Given the description of an element on the screen output the (x, y) to click on. 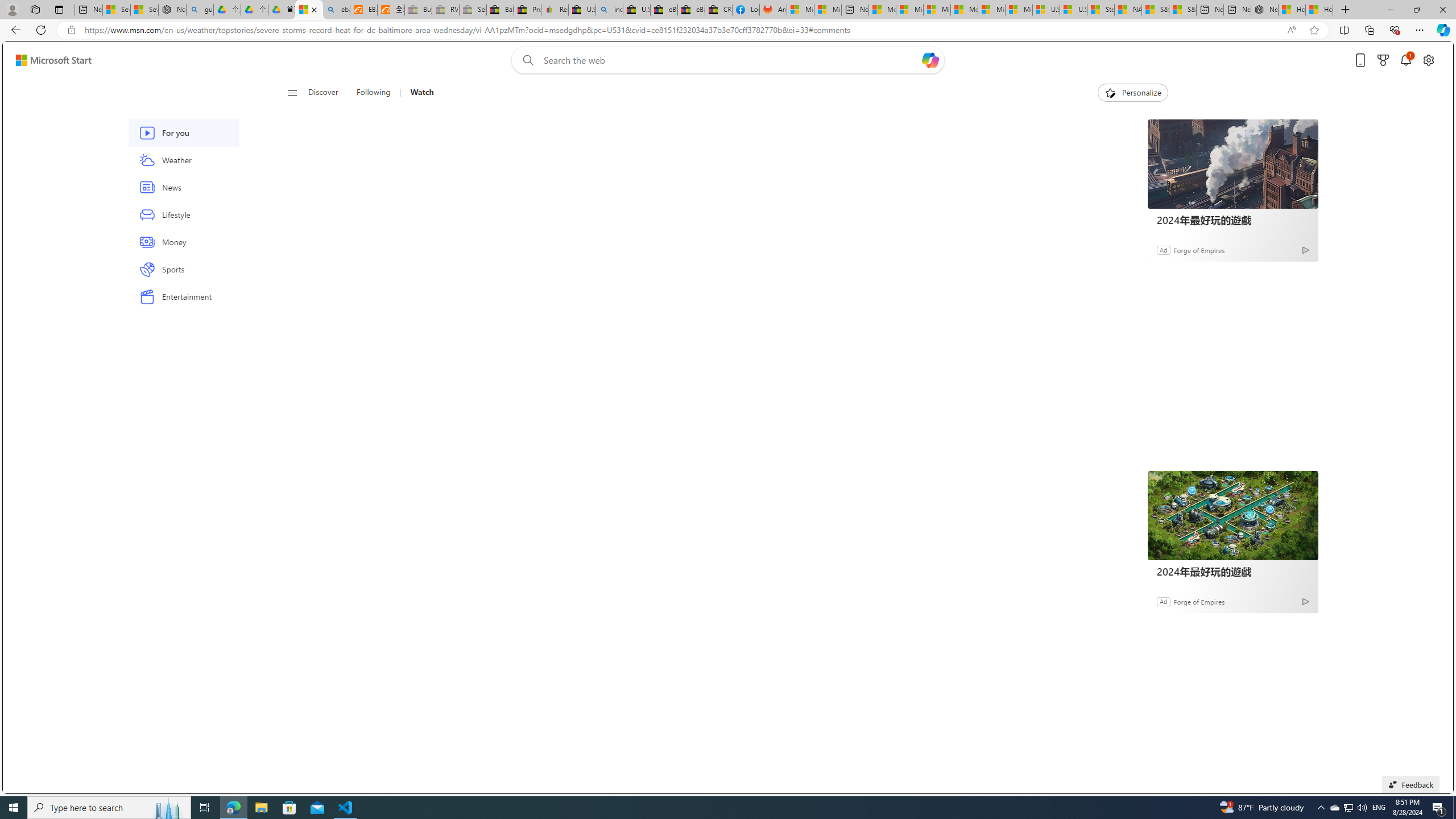
Buy Auto Parts & Accessories | eBay - Sleeping (418, 9)
Sell worldwide with eBay - Sleeping (473, 9)
including - Search (609, 9)
Skip to content (49, 59)
Enter your search term (730, 59)
